Given the description of an element on the screen output the (x, y) to click on. 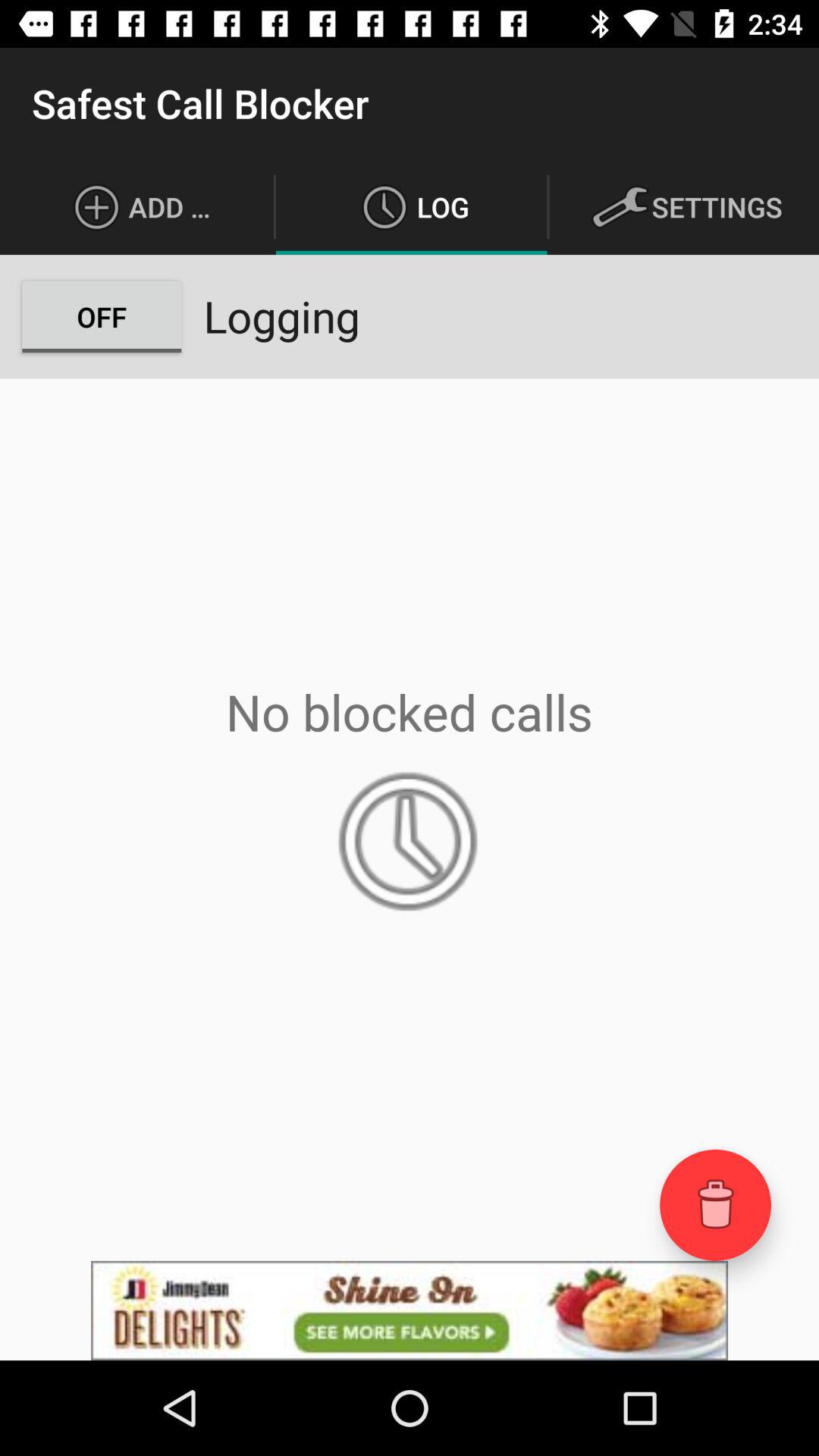
open trash (715, 1204)
